Given the description of an element on the screen output the (x, y) to click on. 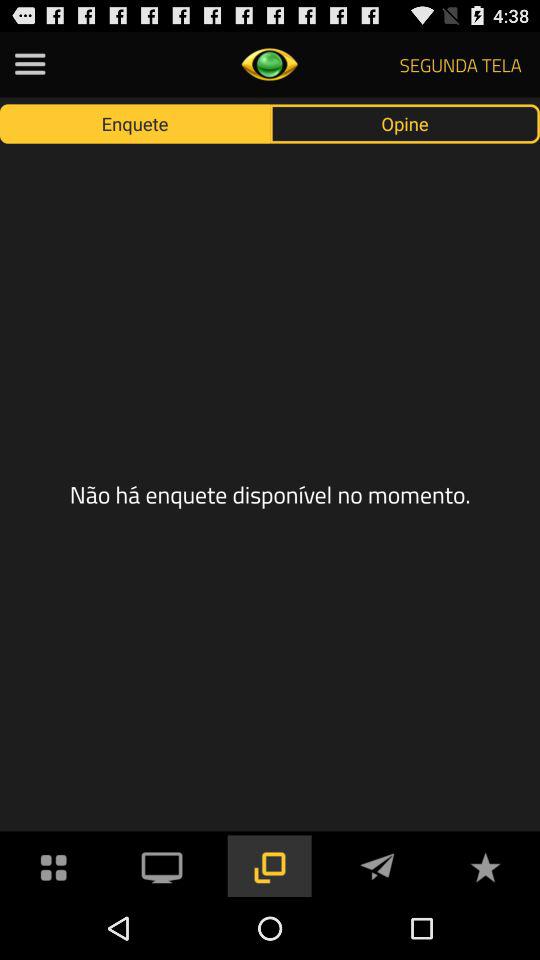
view windows (269, 865)
